Given the description of an element on the screen output the (x, y) to click on. 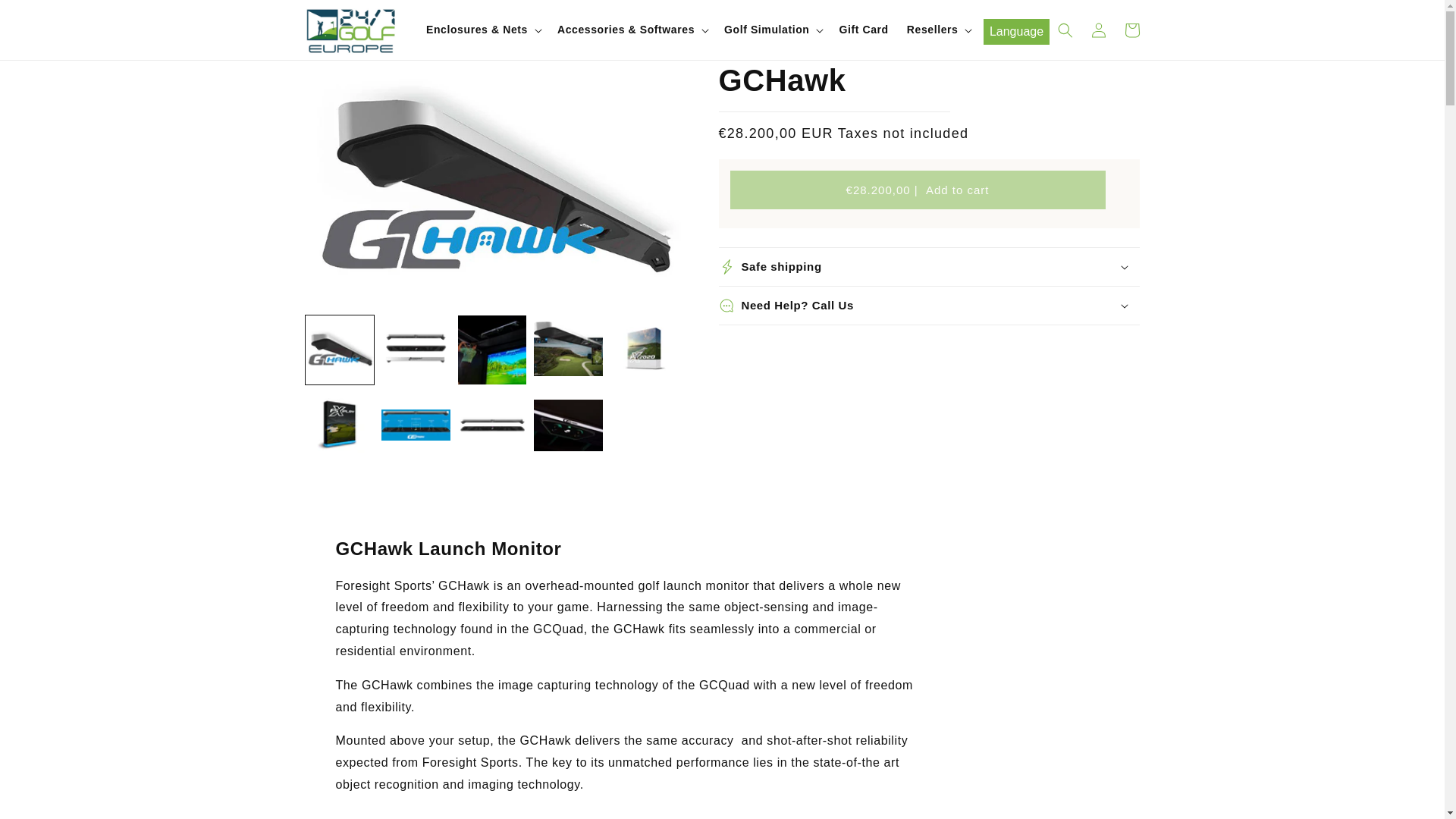
Skip to content (47, 18)
